Given the description of an element on the screen output the (x, y) to click on. 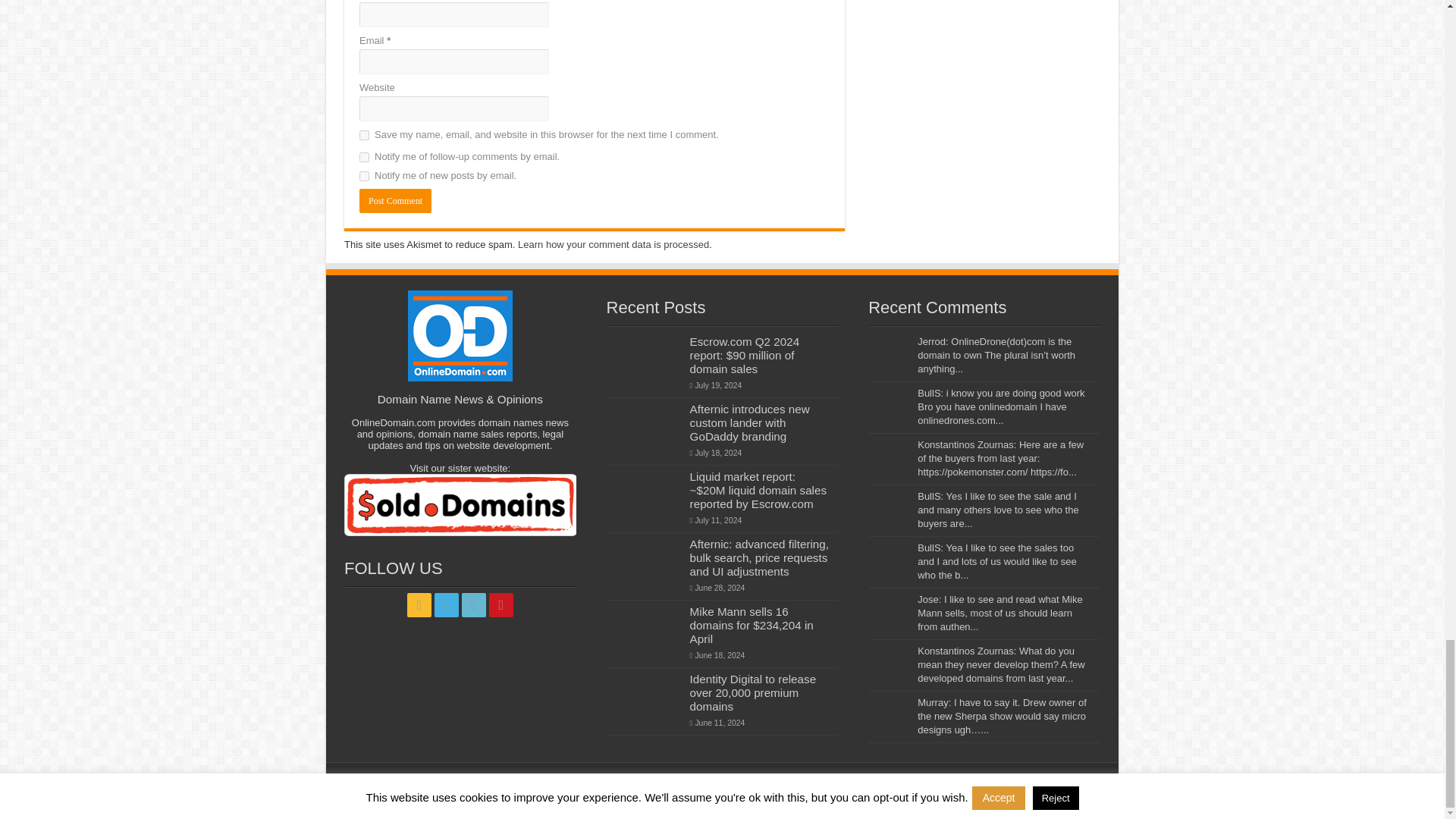
yes (364, 135)
subscribe (364, 157)
Post Comment (394, 200)
subscribe (364, 175)
